Given the description of an element on the screen output the (x, y) to click on. 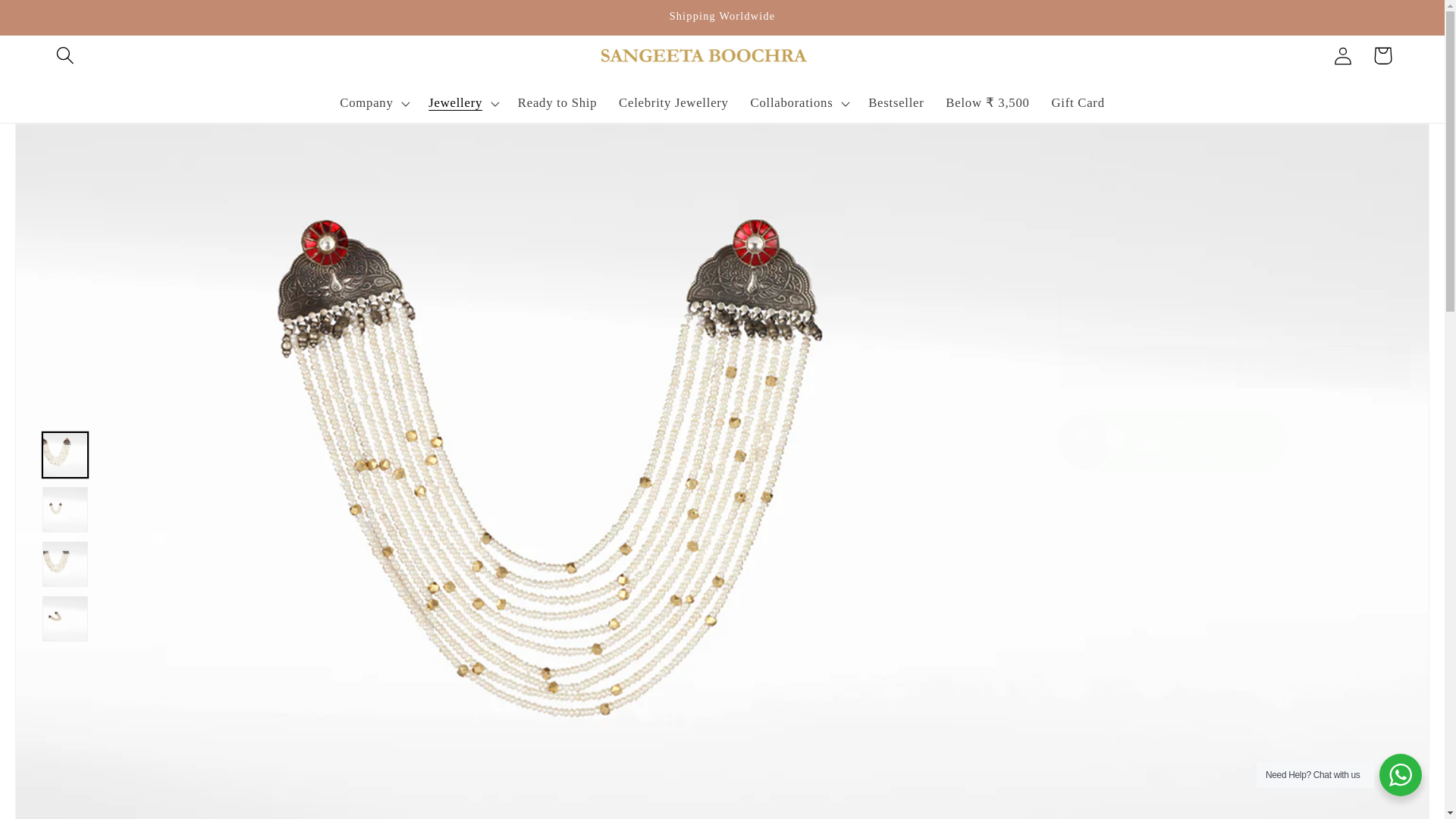
SKIP TO CONTENT (55, 20)
1 (1112, 248)
